Given the description of an element on the screen output the (x, y) to click on. 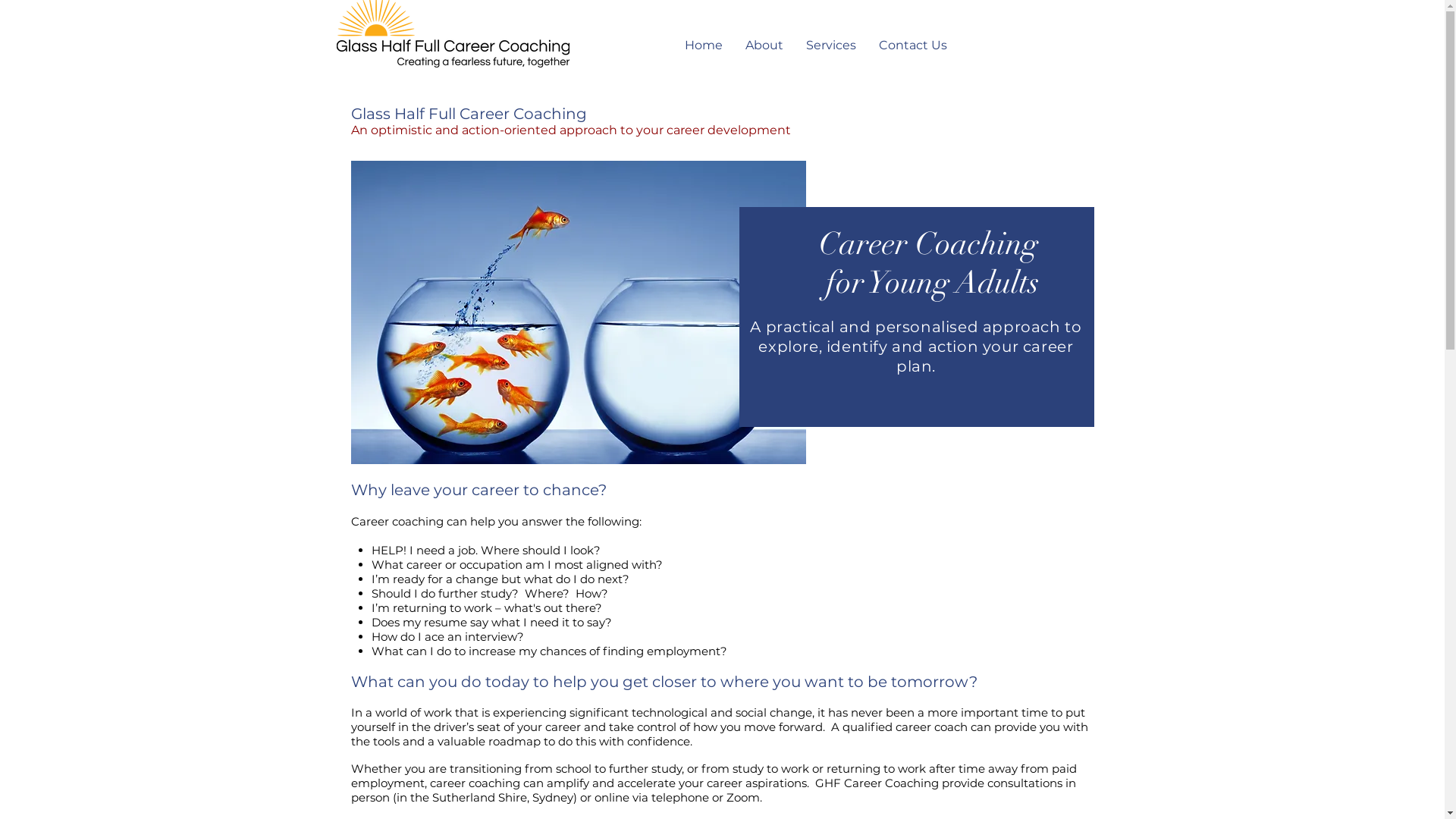
Home Element type: text (703, 45)
About Element type: text (764, 45)
Services Element type: text (830, 45)
Contact Us Element type: text (912, 45)
